Given the description of an element on the screen output the (x, y) to click on. 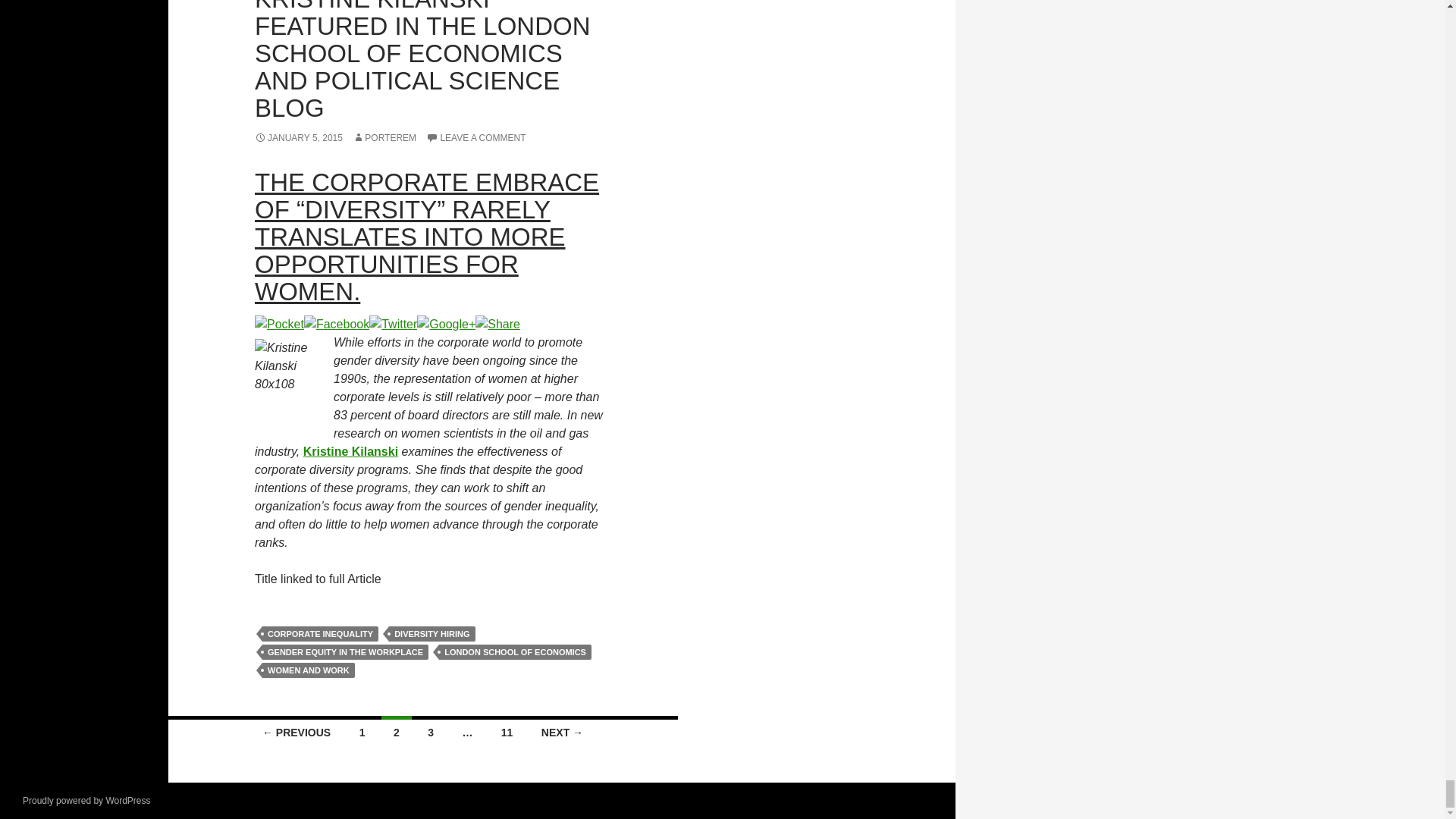
Facebook (336, 323)
Pocket (279, 323)
Twitter (392, 323)
